Given the description of an element on the screen output the (x, y) to click on. 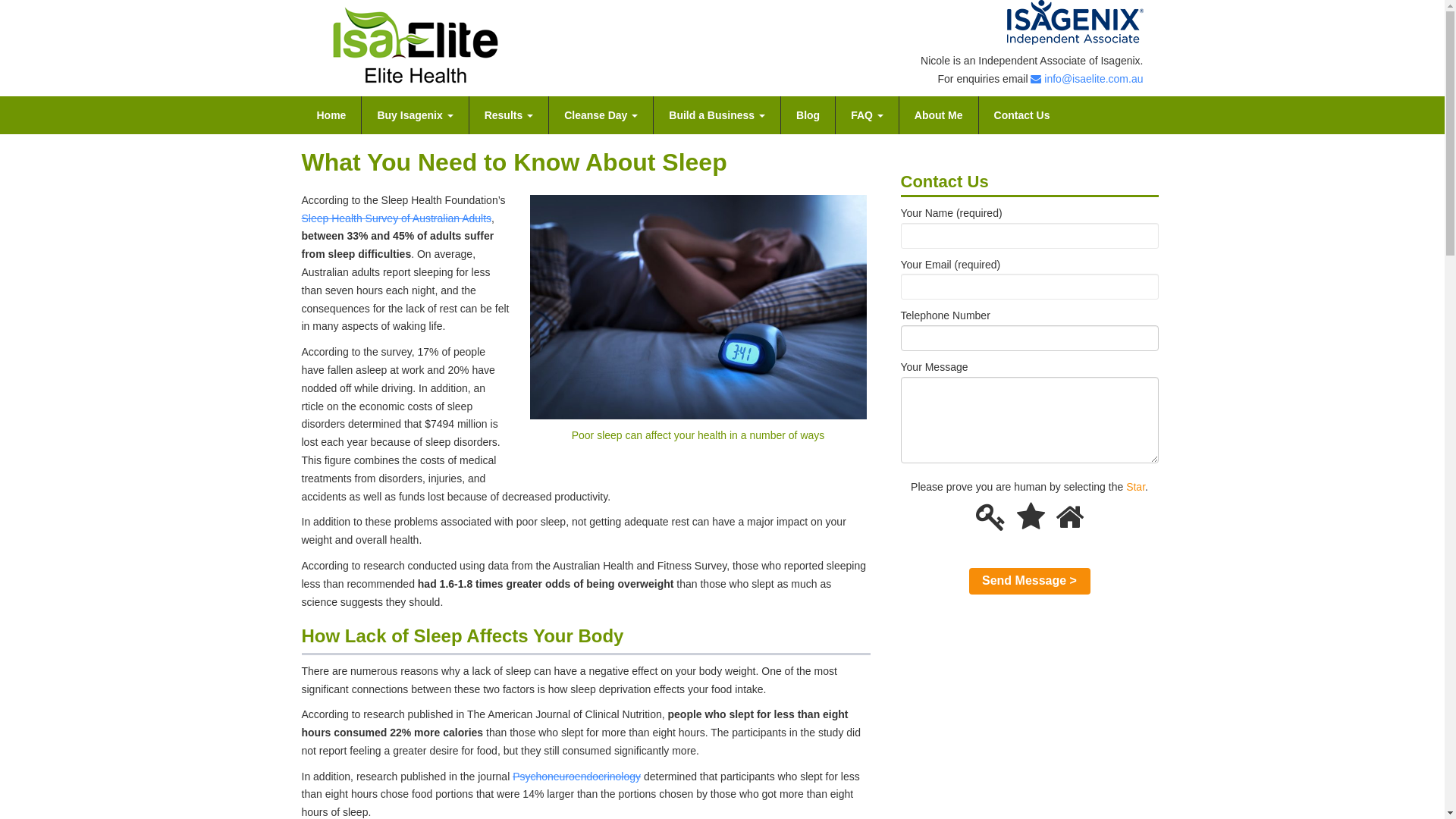
Send Message > Element type: text (1029, 580)
Cleanse Day Element type: text (600, 115)
Buy Isagenix Element type: text (414, 115)
Home Element type: text (331, 115)
About Me Element type: text (938, 115)
IsaElite is an Independent Associate of Isagenix Element type: hover (1075, 22)
info@isaelite.com.au Element type: text (1086, 78)
Psychoneuroendocrinology Element type: text (576, 776)
Build a Business Element type: text (716, 115)
Results Element type: text (508, 115)
Contact Us Element type: text (1022, 115)
Sleep Health Survey of Australian Adults Element type: text (396, 218)
Blog Element type: text (807, 115)
FAQ Element type: text (866, 115)
